Given the description of an element on the screen output the (x, y) to click on. 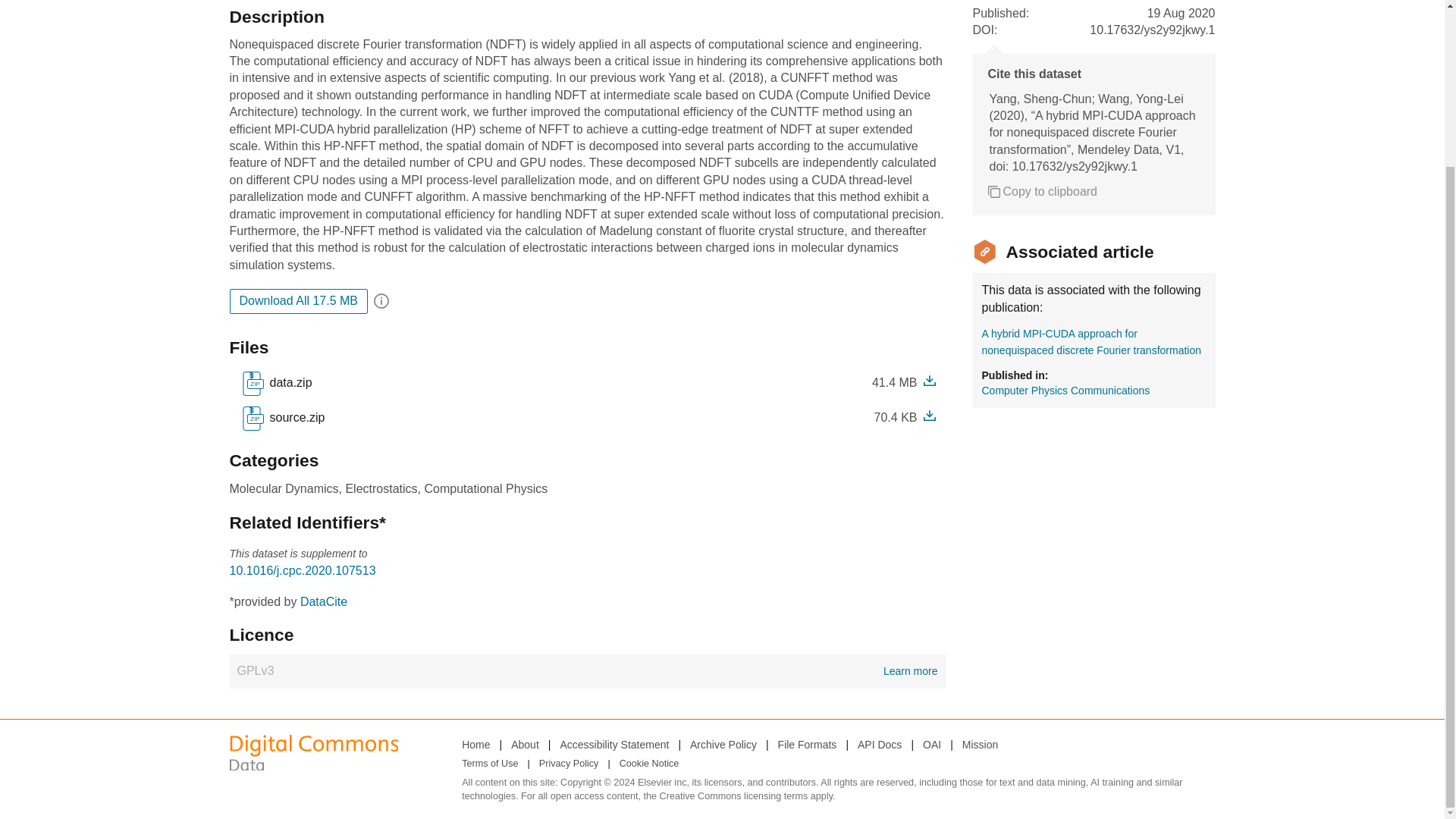
OAI (931, 744)
Copy to clipboard (1042, 191)
Accessibility Statement (282, 418)
API Docs (613, 744)
File Formats (879, 744)
Download All 17.5 MB (807, 744)
Archive Policy (298, 300)
source.zip (723, 744)
Privacy Policy (293, 417)
Cookie Notice (568, 763)
Computer Physics Communications (586, 670)
DataCite (649, 763)
